Given the description of an element on the screen output the (x, y) to click on. 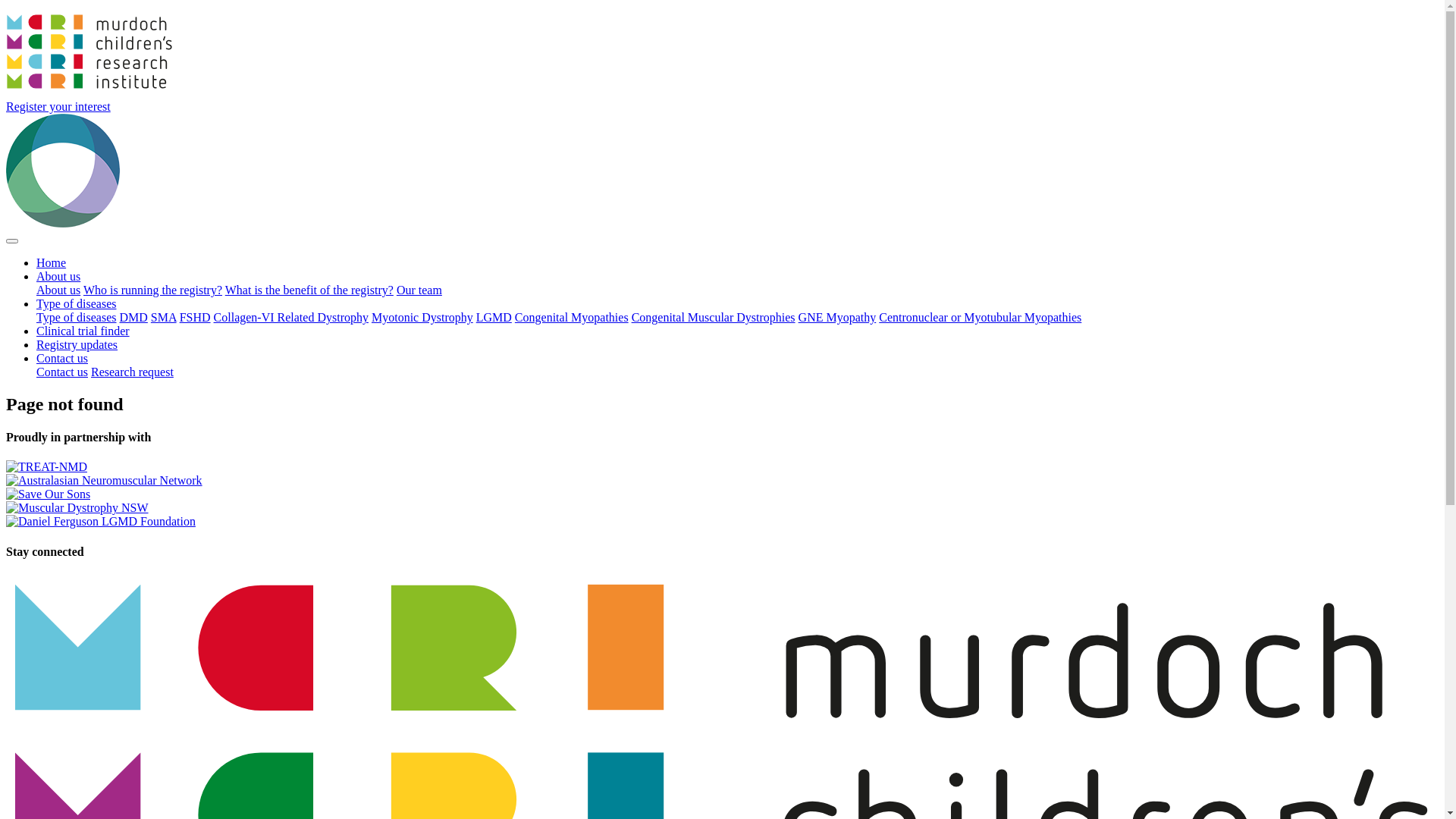
Our team Element type: text (419, 289)
LGMD Element type: text (493, 316)
Contact us Element type: text (61, 357)
Myotonic Dystrophy Element type: text (422, 316)
Congenital Muscular Dystrophies Element type: text (713, 316)
What is the benefit of the registry? Element type: text (309, 289)
Centronuclear or Myotubular Myopathies Element type: text (979, 316)
Clinical trial finder Element type: text (82, 330)
Collagen-VI Related Dystrophy Element type: text (290, 316)
About us Element type: text (58, 275)
FSHD Element type: text (194, 316)
SMA Element type: text (163, 316)
Type of diseases Element type: text (76, 303)
Home Element type: text (50, 262)
Register your interest Element type: text (58, 106)
GNE Myopathy Element type: text (837, 316)
Type of diseases Element type: text (76, 316)
About us Element type: text (58, 289)
Who is running the registry? Element type: text (152, 289)
Registry updates Element type: text (76, 344)
Research request Element type: text (132, 371)
DMD Element type: text (133, 316)
Congenital Myopathies Element type: text (571, 316)
Contact us Element type: text (61, 371)
